Given the description of an element on the screen output the (x, y) to click on. 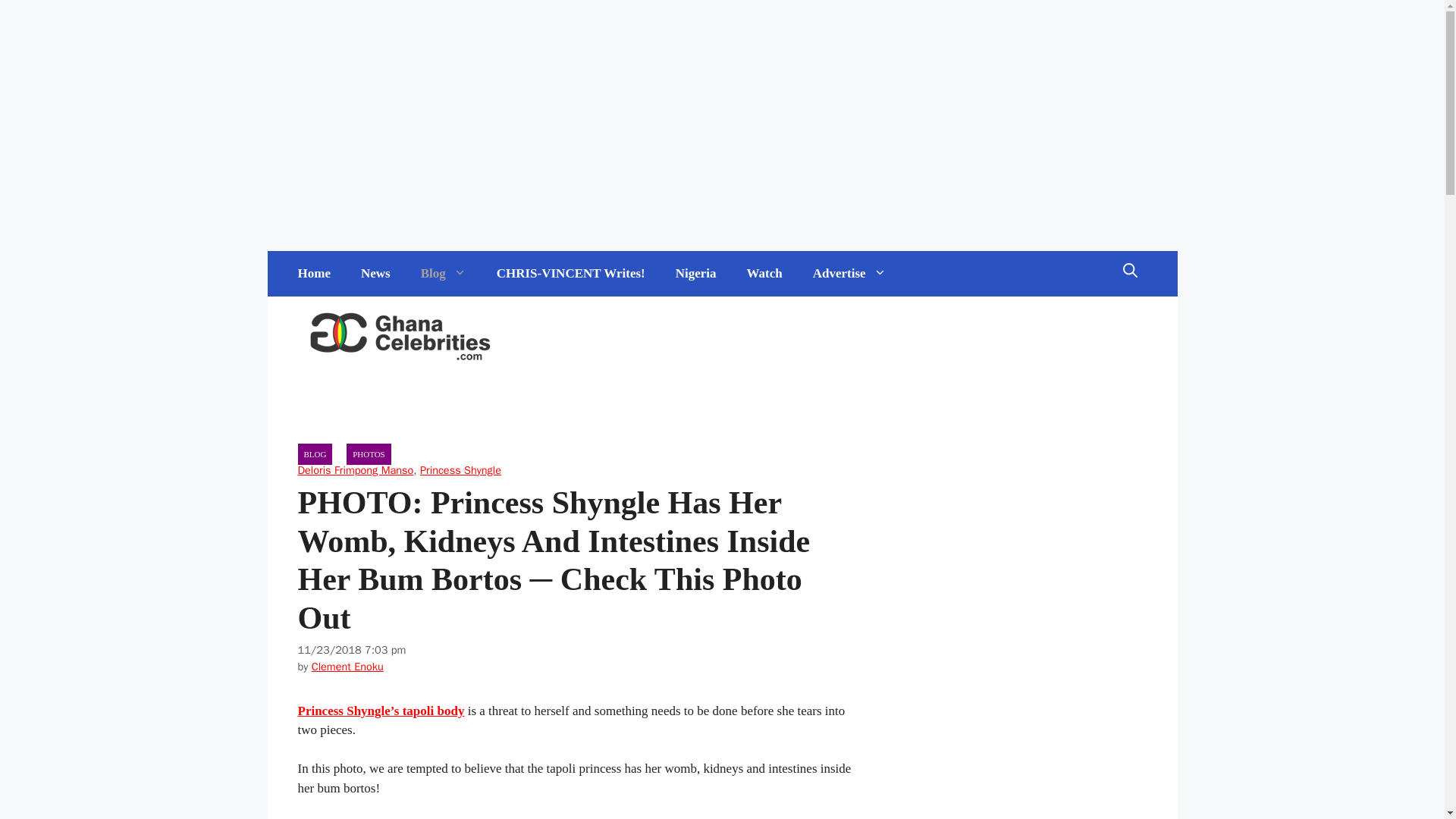
Advertise (849, 273)
GhanaCelebrities.Com (400, 337)
Nigeria (696, 273)
News (376, 273)
Blog (443, 273)
Home (313, 273)
CHRIS-VINCENT Writes! (571, 273)
View all posts by Clement Enoku (347, 666)
Watch (764, 273)
